Given the description of an element on the screen output the (x, y) to click on. 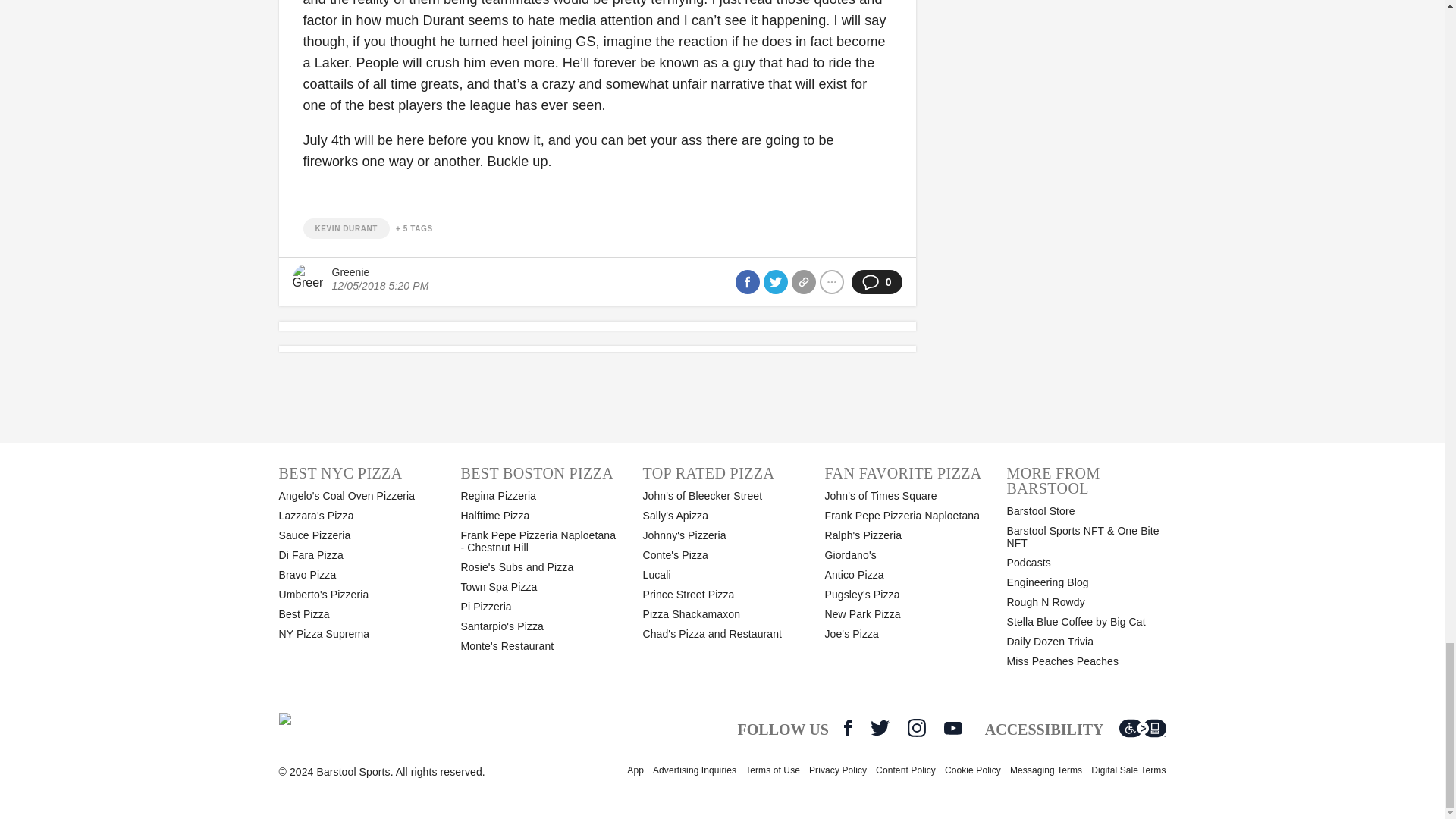
Instagram Icon (916, 728)
Facebook Icon (847, 728)
YouTube Icon (952, 728)
Twitter Icon (879, 728)
Level Access website accessibility icon (1142, 728)
